Given the description of an element on the screen output the (x, y) to click on. 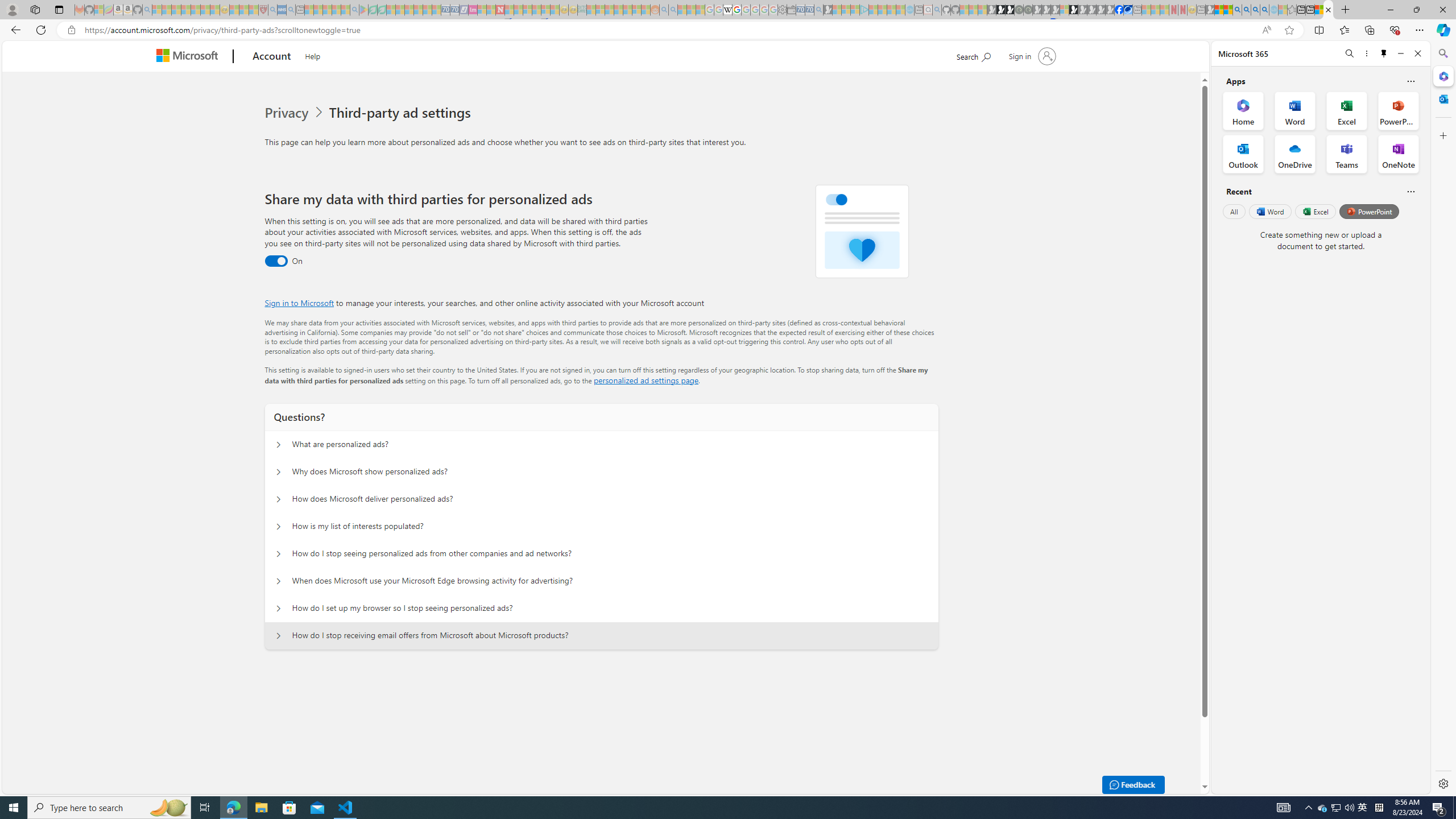
Questions? How does Microsoft deliver personalized ads? (278, 499)
Third-party ad settings (402, 112)
